Given the description of an element on the screen output the (x, y) to click on. 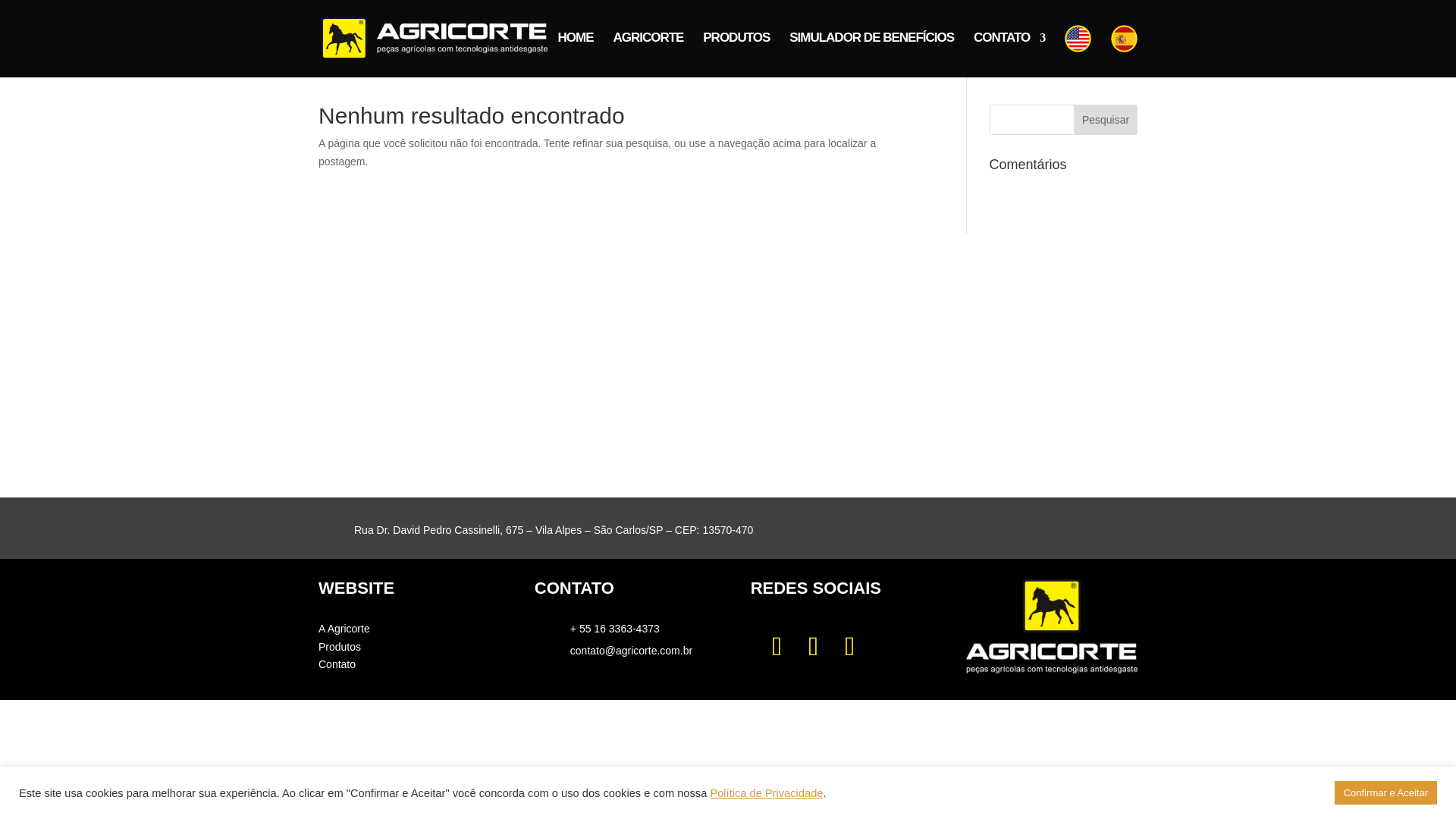
Siga em Facebook (813, 646)
Siga em Instagram (777, 646)
Produtos (339, 646)
A Agricorte (343, 628)
PRODUTOS (736, 49)
Pesquisar (1105, 119)
HOME (574, 49)
Pesquisar (1105, 119)
AGRICORTE (647, 49)
Siga em LinkedIn (850, 646)
